Given the description of an element on the screen output the (x, y) to click on. 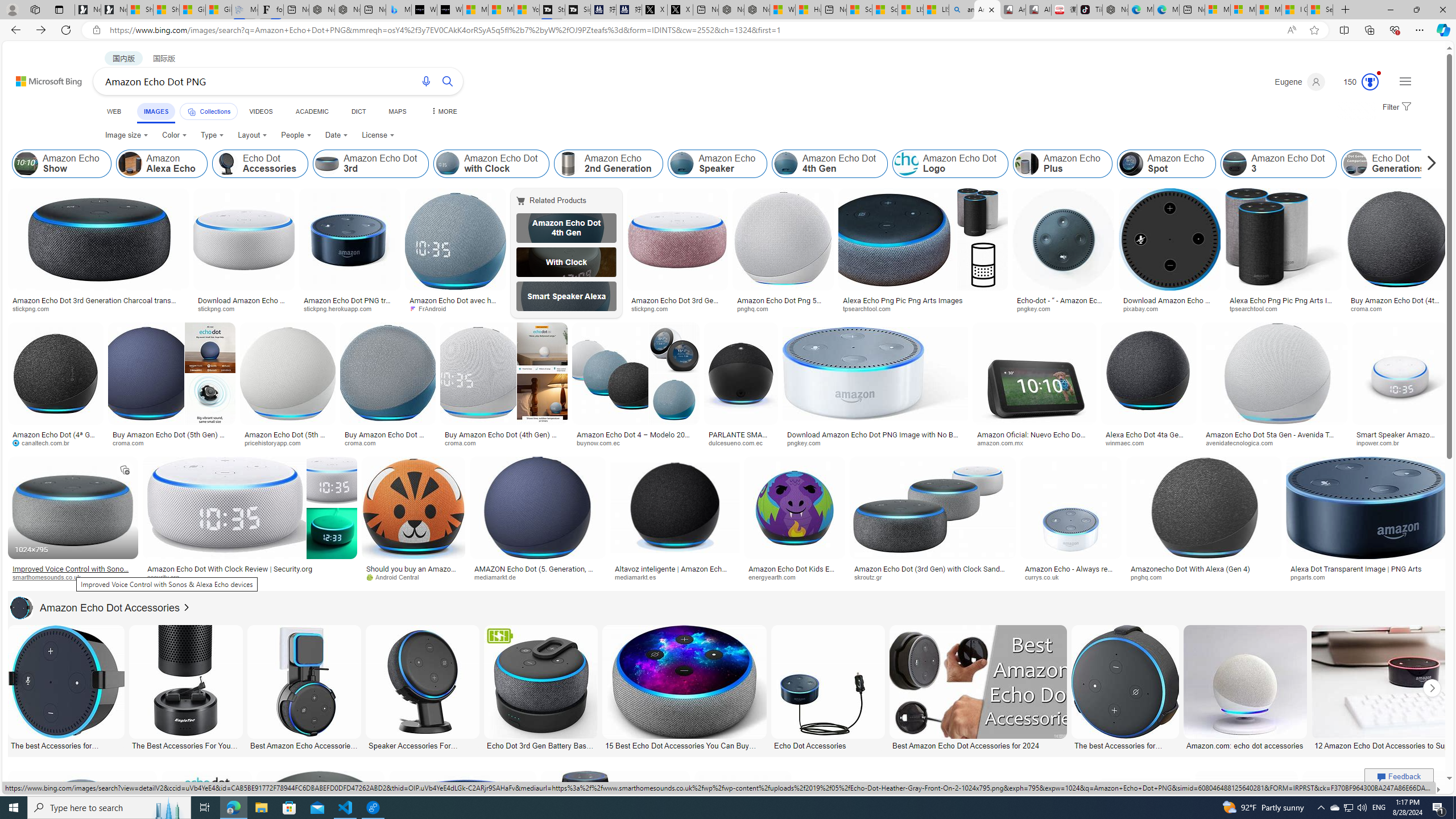
Amazon Echo 2nd Generation (608, 163)
Click to scroll right (1431, 687)
amazon - Search (961, 9)
MAPS (397, 111)
amazon.com.mx (1003, 442)
Android Central (413, 576)
Feedback (1399, 776)
Smart Speaker Alexa (565, 296)
